Given the description of an element on the screen output the (x, y) to click on. 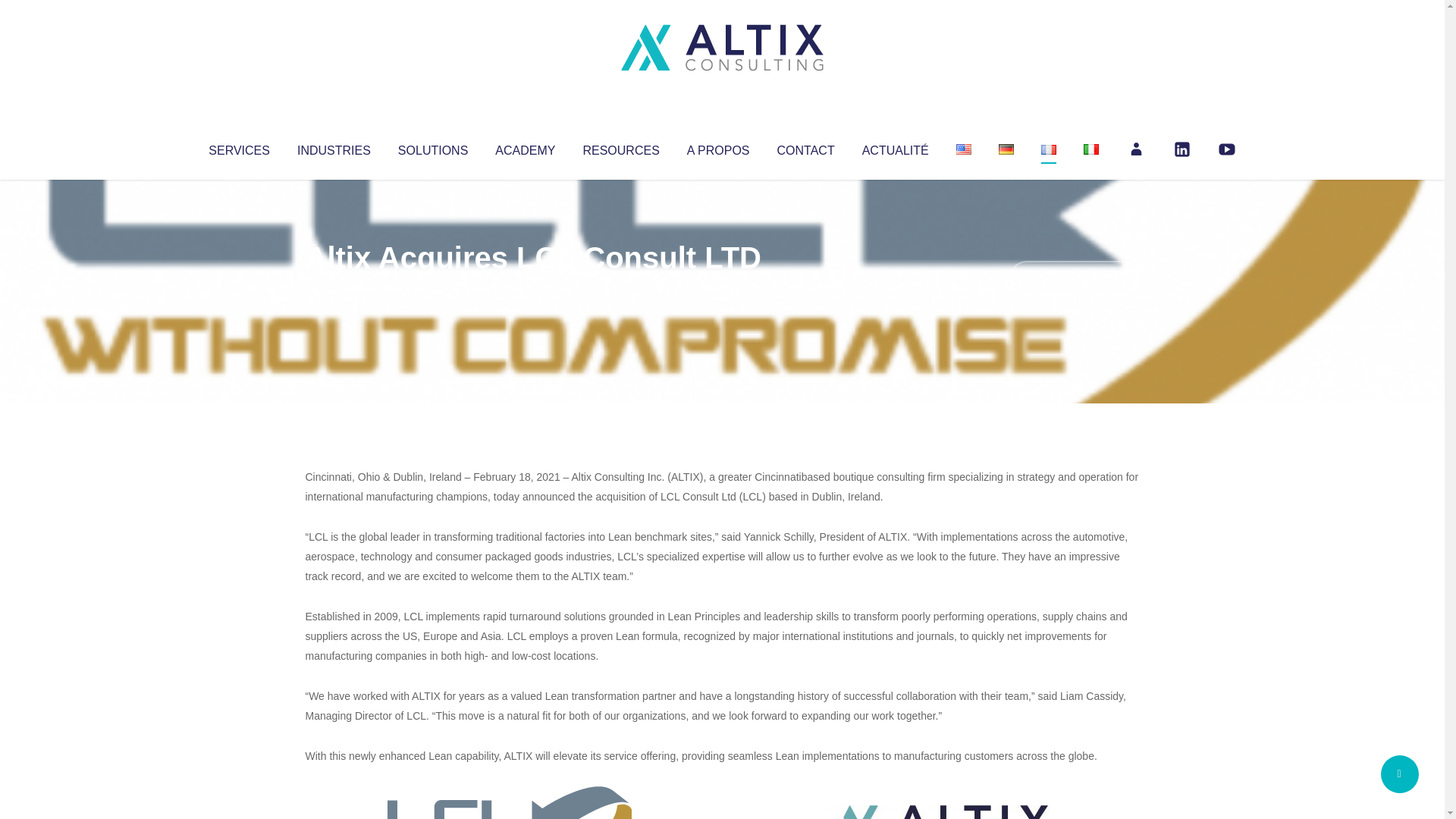
RESOURCES (620, 146)
Articles par Altix (333, 287)
No Comments (1073, 278)
Altix (333, 287)
SERVICES (238, 146)
A PROPOS (718, 146)
Uncategorized (530, 287)
ACADEMY (524, 146)
INDUSTRIES (334, 146)
SOLUTIONS (432, 146)
